Given the description of an element on the screen output the (x, y) to click on. 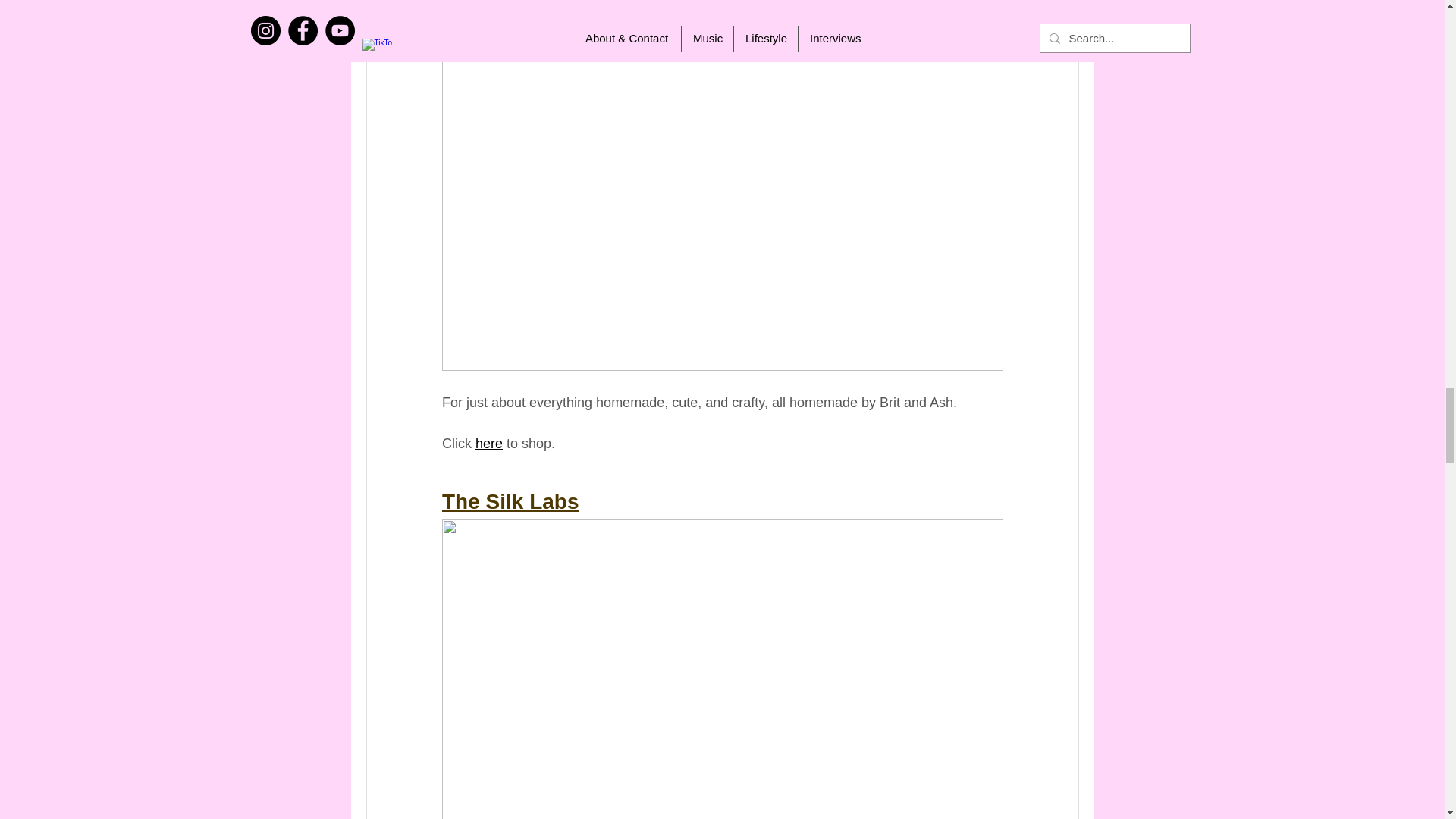
here (488, 443)
